Given the description of an element on the screen output the (x, y) to click on. 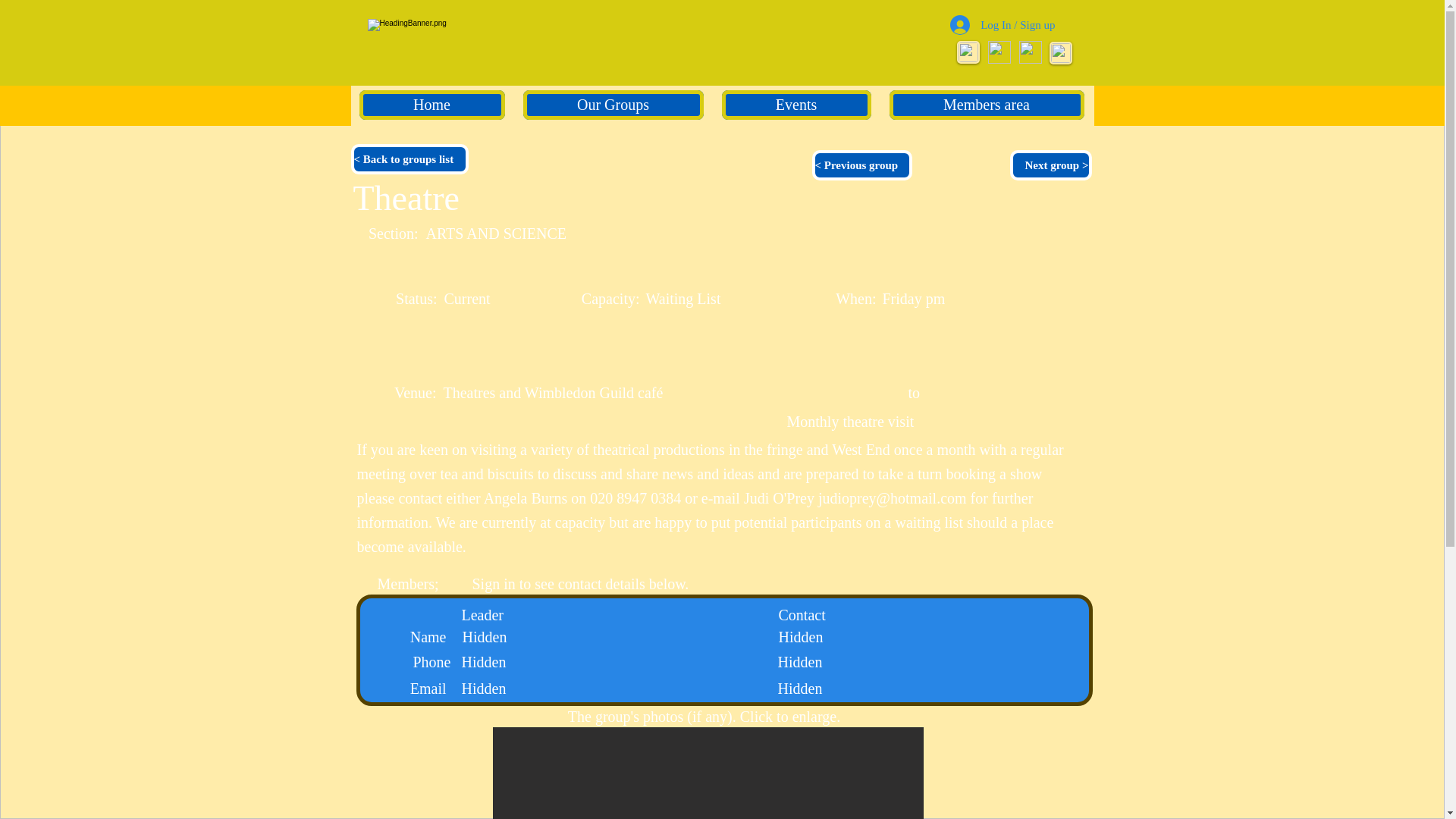
Our Groups (612, 104)
Home (432, 104)
Members area (985, 104)
Events (796, 104)
